Given the description of an element on the screen output the (x, y) to click on. 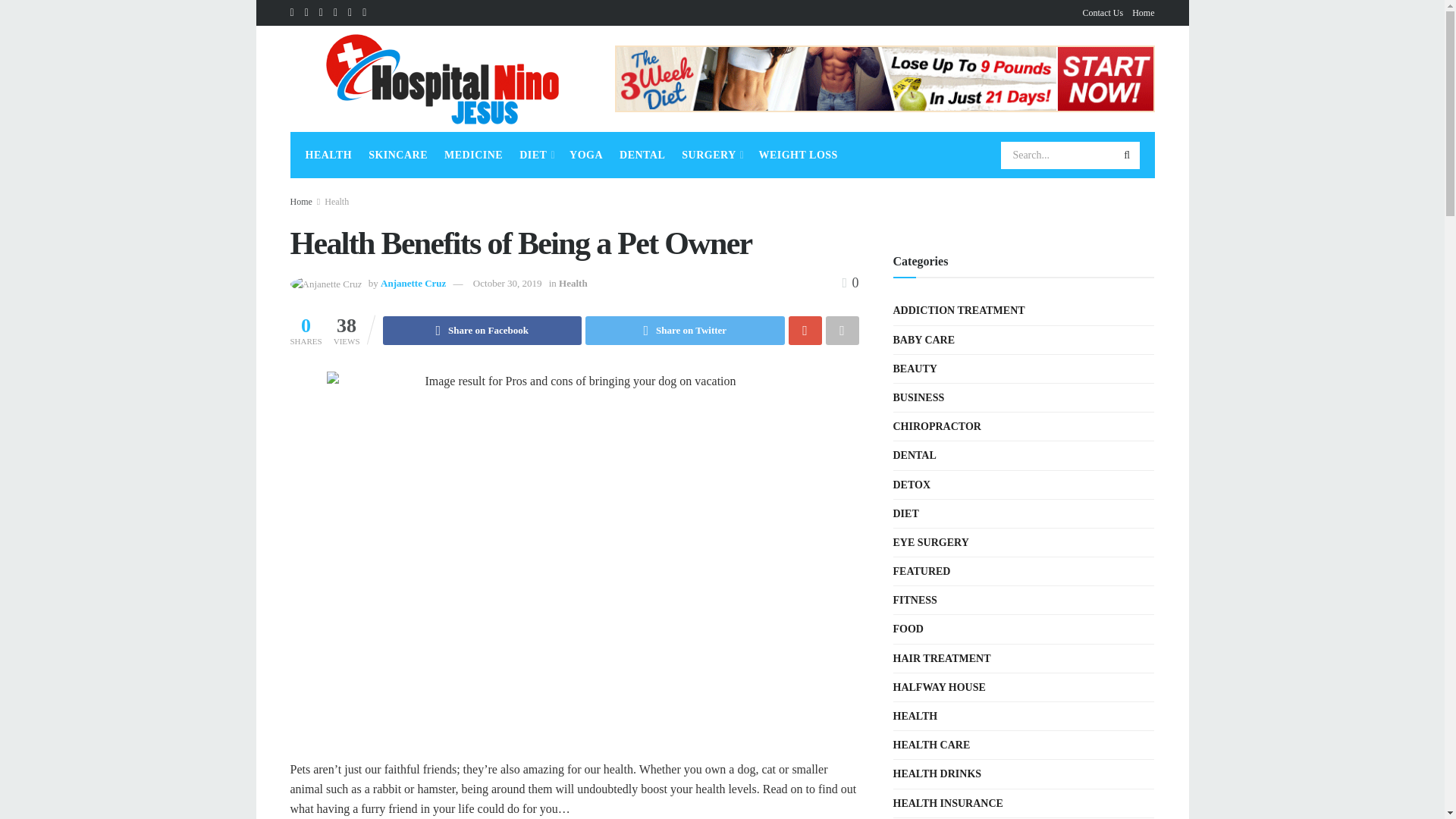
Home (300, 201)
Health (573, 283)
YOGA (585, 155)
0 (850, 282)
DENTAL (642, 155)
Anjanette Cruz (412, 283)
HEALTH (328, 155)
Share on Twitter (684, 330)
DIET (536, 155)
SKINCARE (398, 155)
Health (336, 201)
October 30, 2019 (507, 283)
Share on Facebook (482, 330)
MEDICINE (473, 155)
Contact Us (1103, 12)
